Given the description of an element on the screen output the (x, y) to click on. 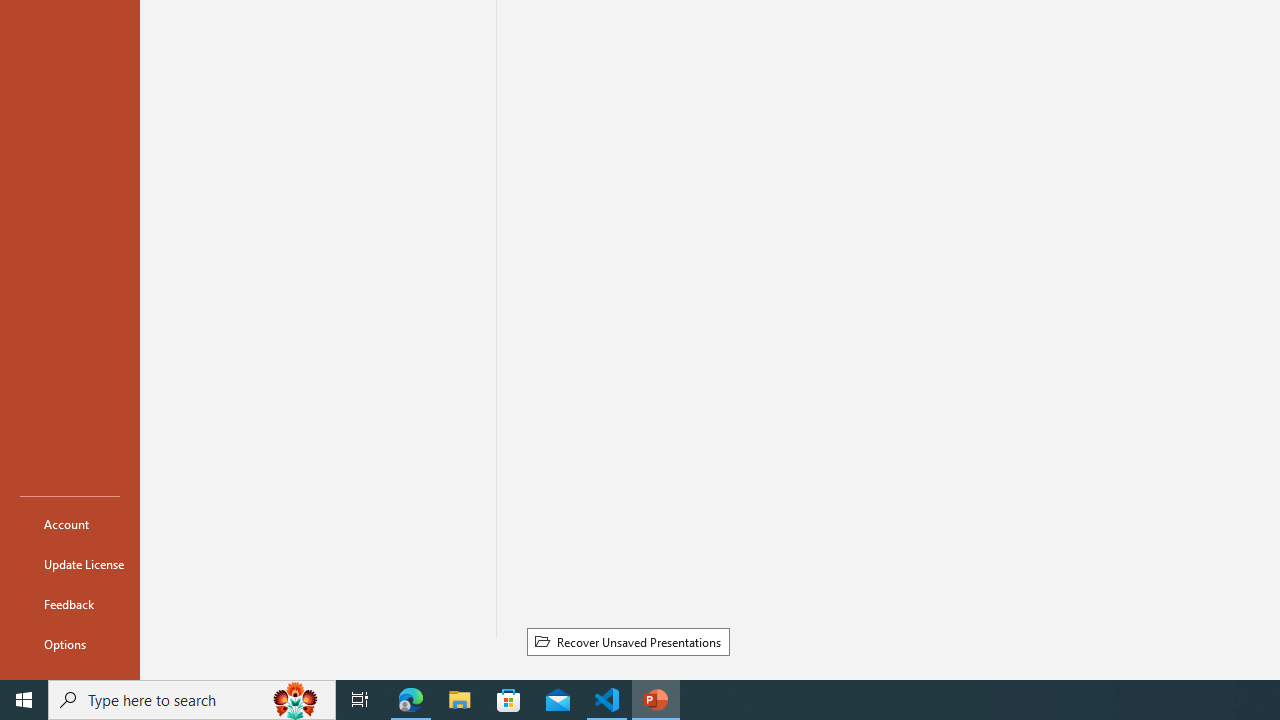
Recover Unsaved Presentations (628, 641)
Options (69, 643)
Account (69, 523)
Update License (69, 563)
Feedback (69, 603)
